Given the description of an element on the screen output the (x, y) to click on. 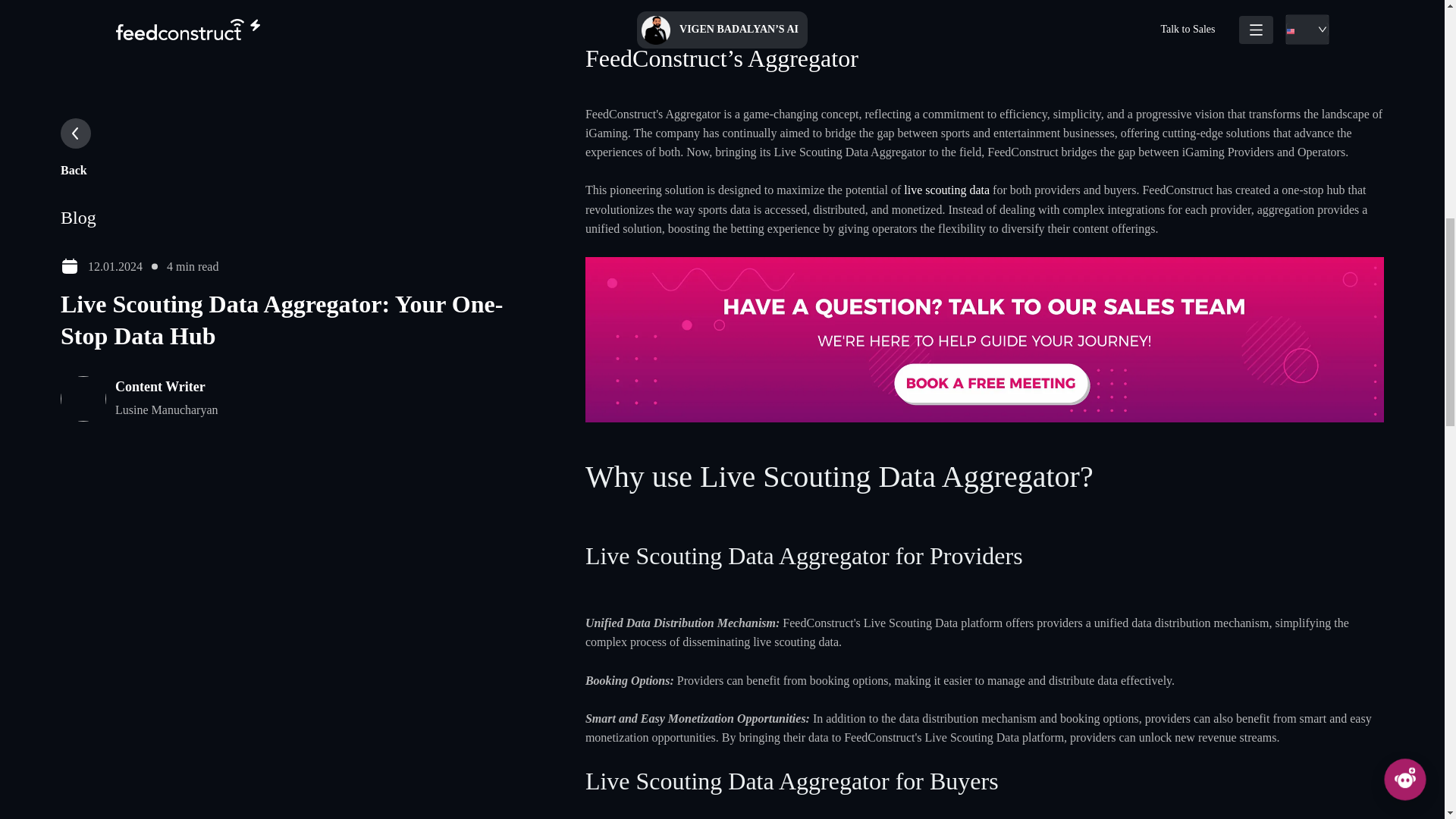
Book a Meeting (984, 338)
live scouting data (947, 189)
